Given the description of an element on the screen output the (x, y) to click on. 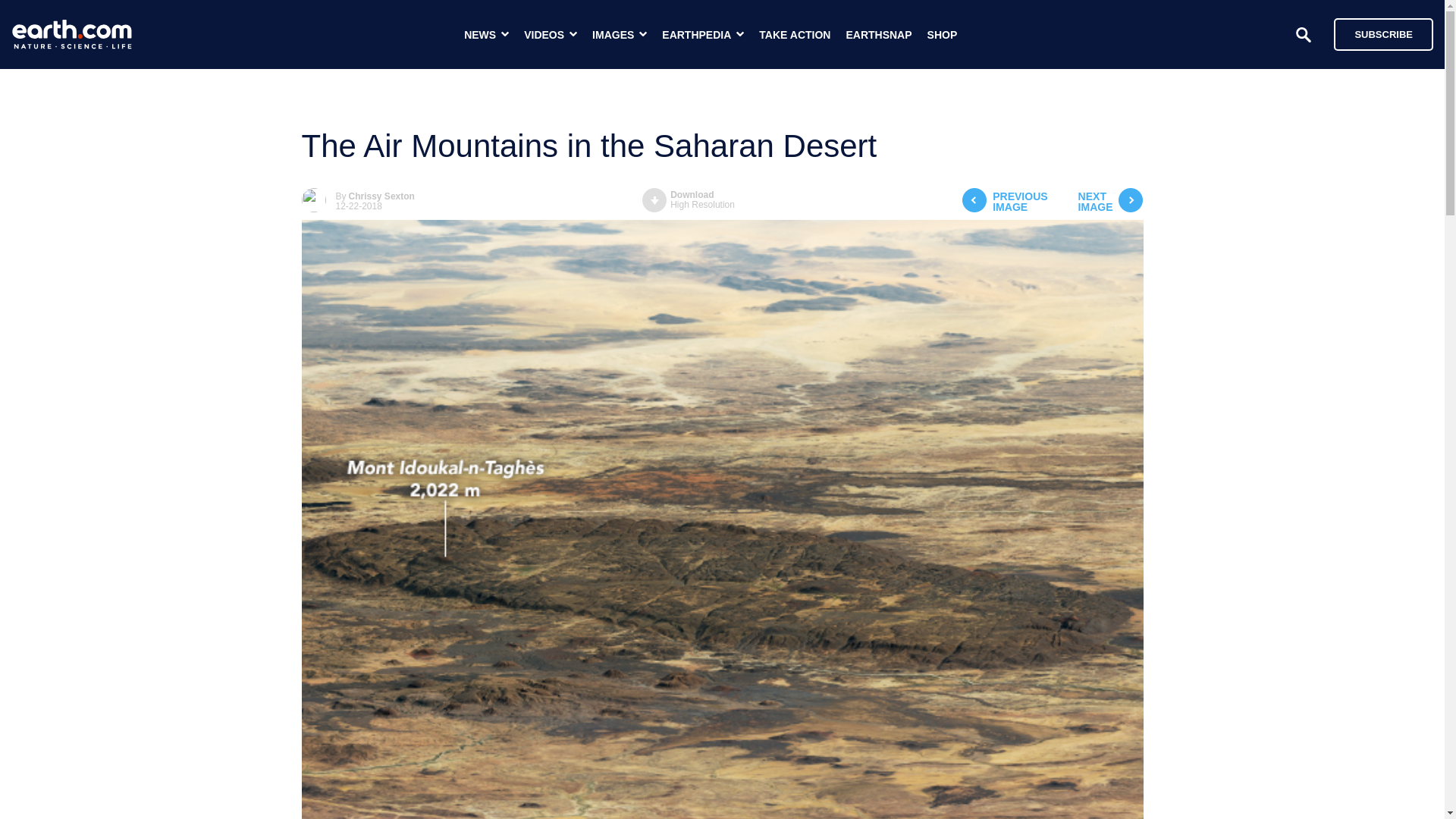
TAKE ACTION (793, 34)
SUBSCRIBE (1110, 201)
Chrissy Sexton (1382, 34)
SHOP (688, 200)
EARTHSNAP (1004, 201)
